Given the description of an element on the screen output the (x, y) to click on. 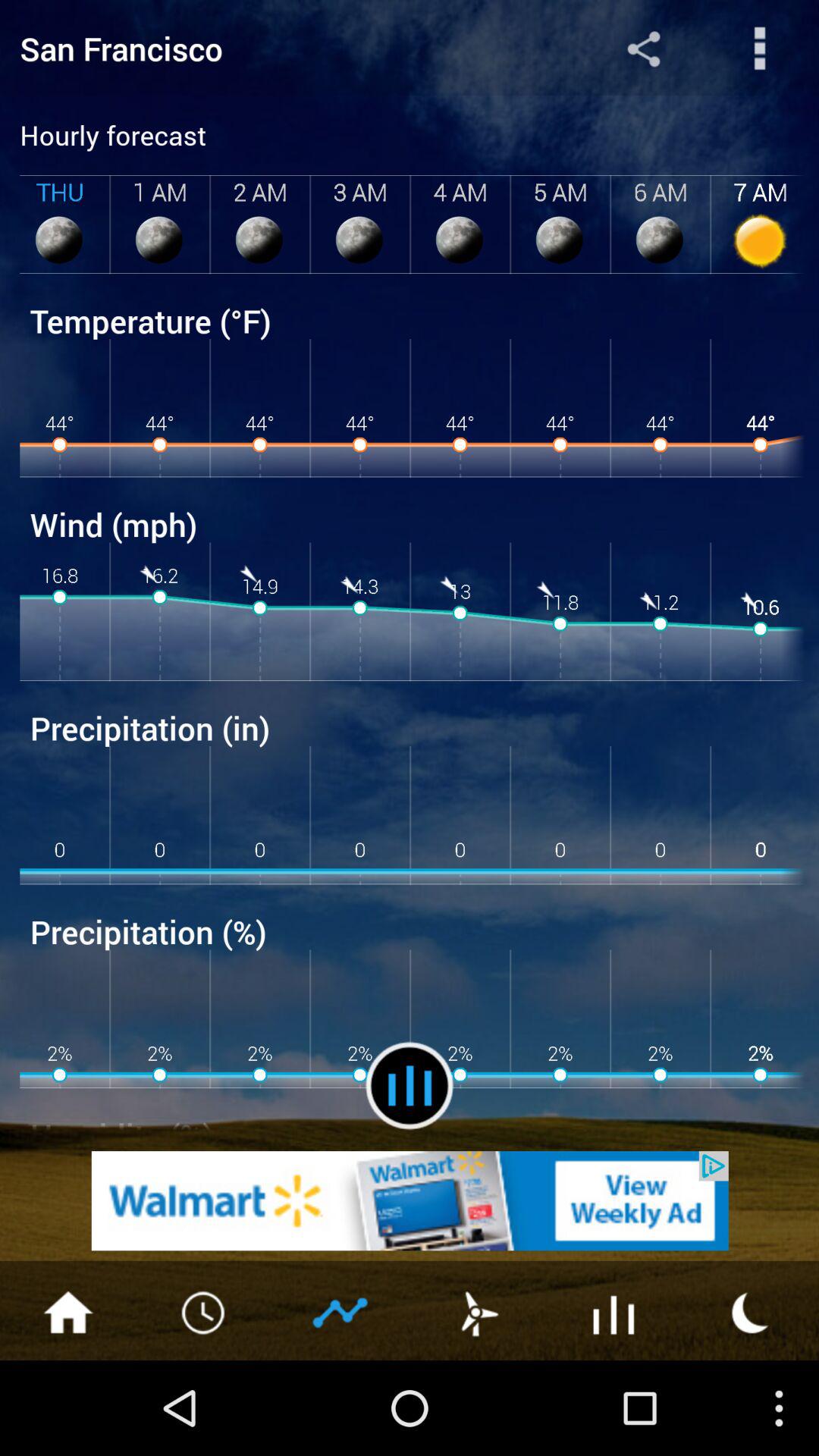
go to advertising partner (409, 1200)
